Given the description of an element on the screen output the (x, y) to click on. 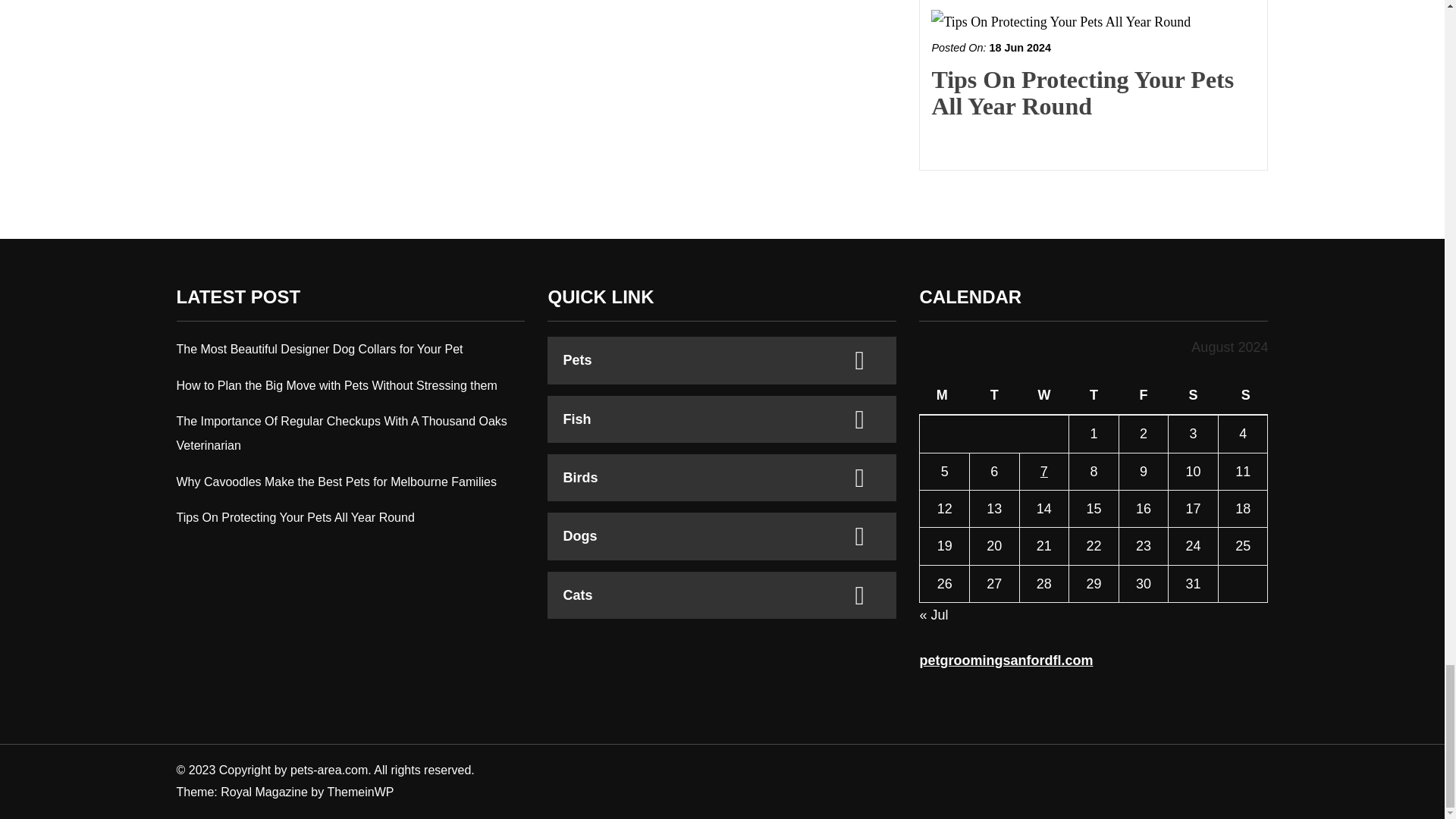
Tuesday (994, 396)
Sunday (1242, 396)
Saturday (1193, 396)
Thursday (1093, 396)
Wednesday (1043, 396)
Monday (944, 396)
Friday (1143, 396)
